Given the description of an element on the screen output the (x, y) to click on. 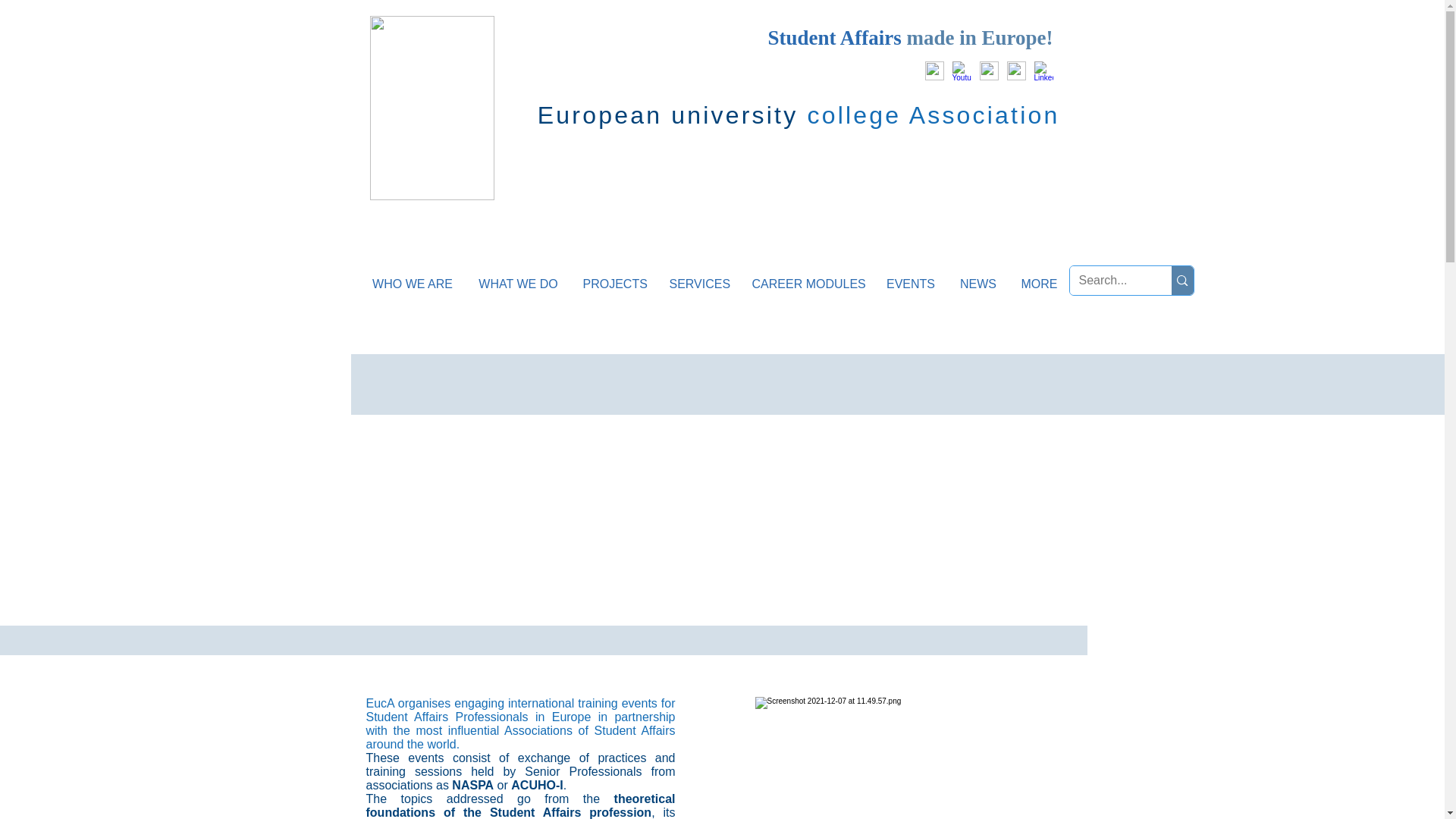
WHO WE ARE (411, 284)
NEWS (977, 284)
European university college Association (798, 114)
ACUHO-I (536, 784)
NASPA (472, 784)
